Given the description of an element on the screen output the (x, y) to click on. 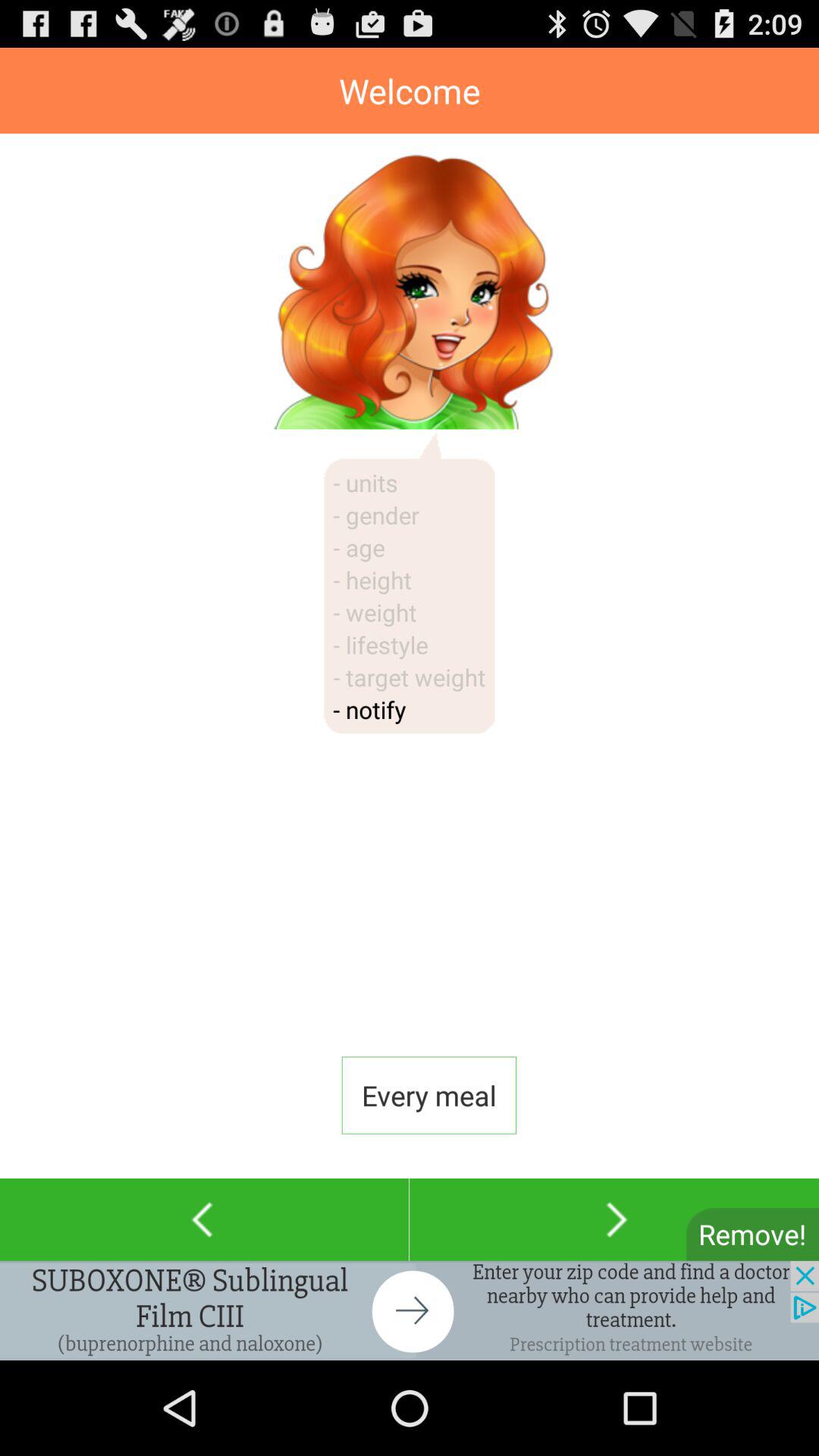
go to treatment option (409, 1310)
